Given the description of an element on the screen output the (x, y) to click on. 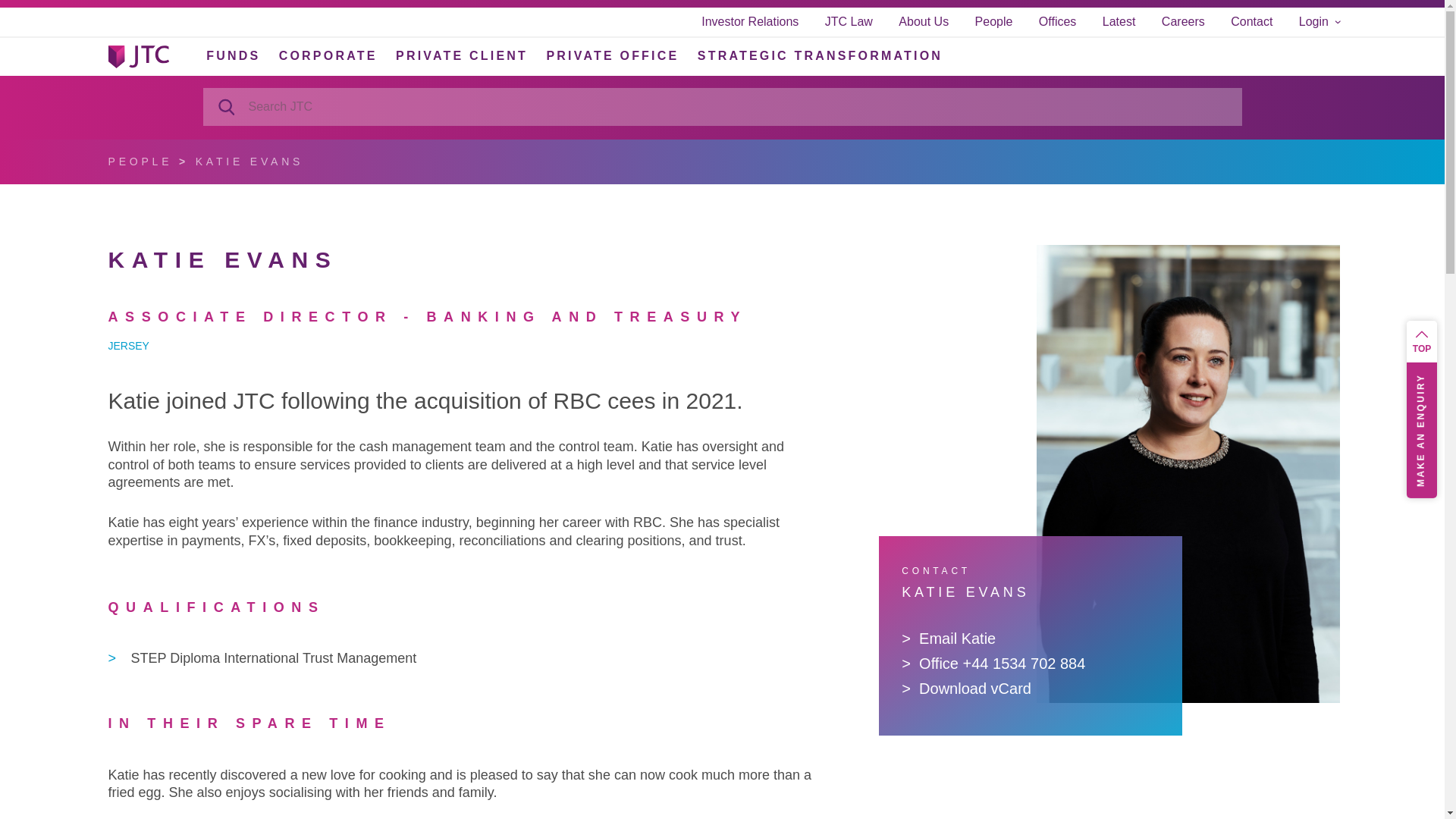
Login (1318, 21)
About Us (923, 21)
Contact (1251, 21)
JTC Law (848, 21)
Offices (1058, 21)
Investor Relations (749, 21)
PEOPLE (139, 161)
People (994, 21)
Careers (1183, 21)
CORPORATE (328, 55)
